Given the description of an element on the screen output the (x, y) to click on. 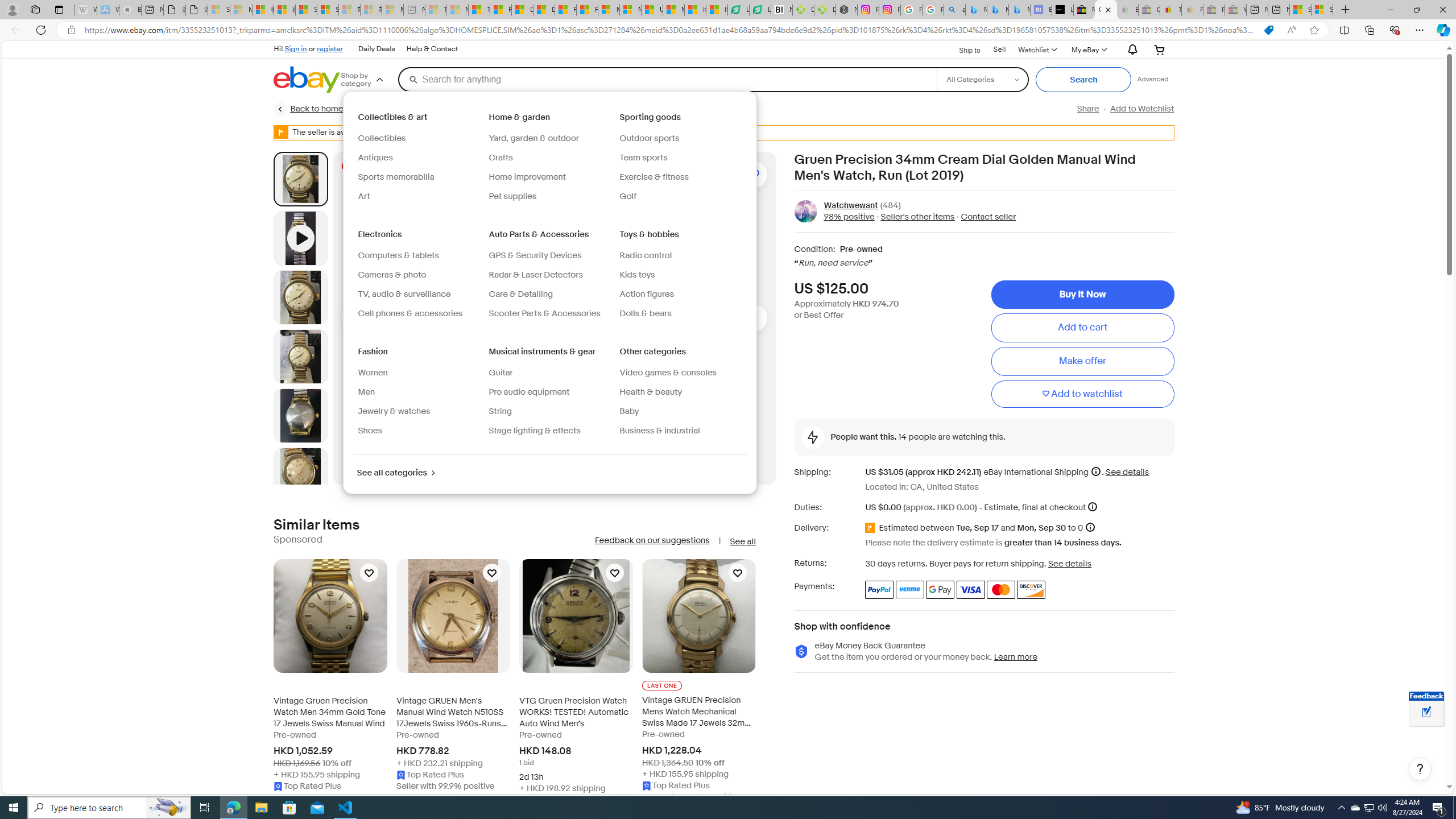
Class: ux-action (804, 210)
Other categories (654, 351)
Scooter Parts & Accessories (544, 313)
Add to watchlist - 14 watchers (746, 174)
String (499, 411)
Crafts (549, 157)
Make offer (1082, 361)
(484) (890, 205)
Make offer (1082, 361)
Scooter Parts & Accessories (549, 313)
